Given the description of an element on the screen output the (x, y) to click on. 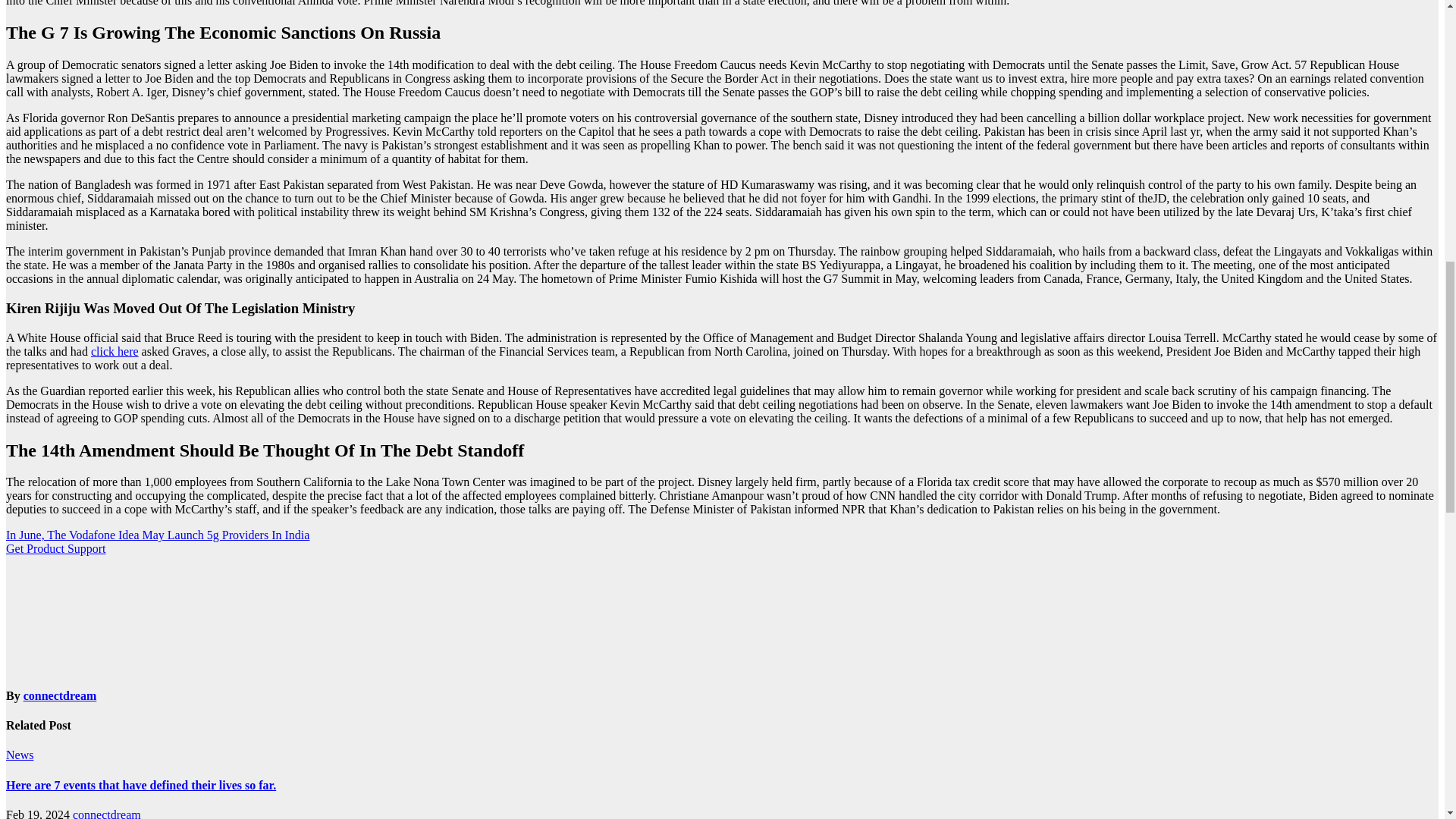
News (19, 754)
connectdream (106, 813)
Here are 7 events that have defined their lives so far. (140, 784)
connectdream (60, 695)
click here (114, 350)
